Given the description of an element on the screen output the (x, y) to click on. 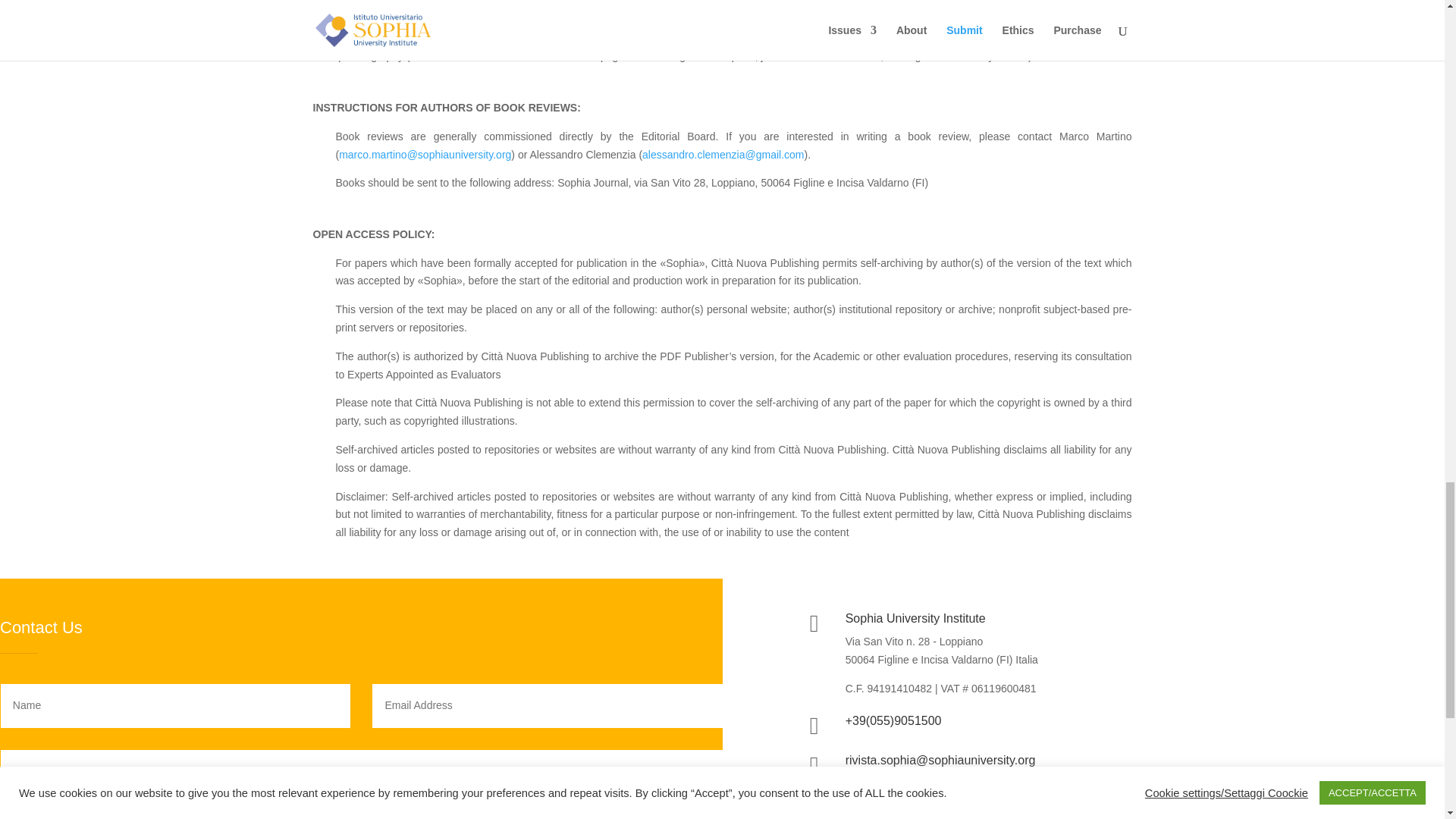
Page 4 (722, 38)
Page 4 (722, 151)
